Given the description of an element on the screen output the (x, y) to click on. 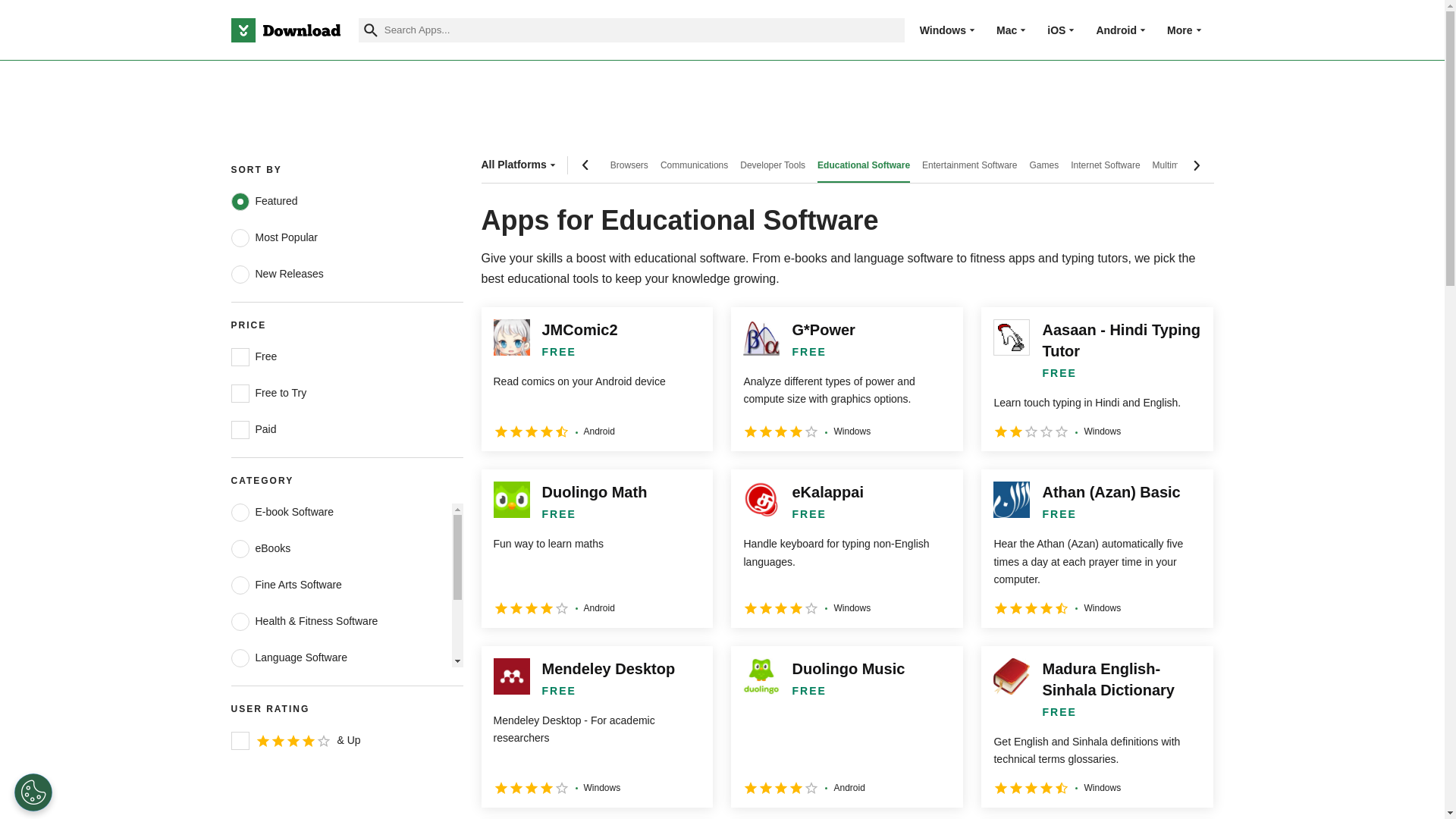
JMComic2 (596, 379)
eKalappai (846, 548)
freeToTry (239, 393)
map-software (239, 694)
free (239, 357)
Duolingo Math (596, 548)
language-software (239, 658)
Duolingo Music (846, 726)
education-teaching-tools (239, 767)
education-fine-arts (239, 585)
